Given the description of an element on the screen output the (x, y) to click on. 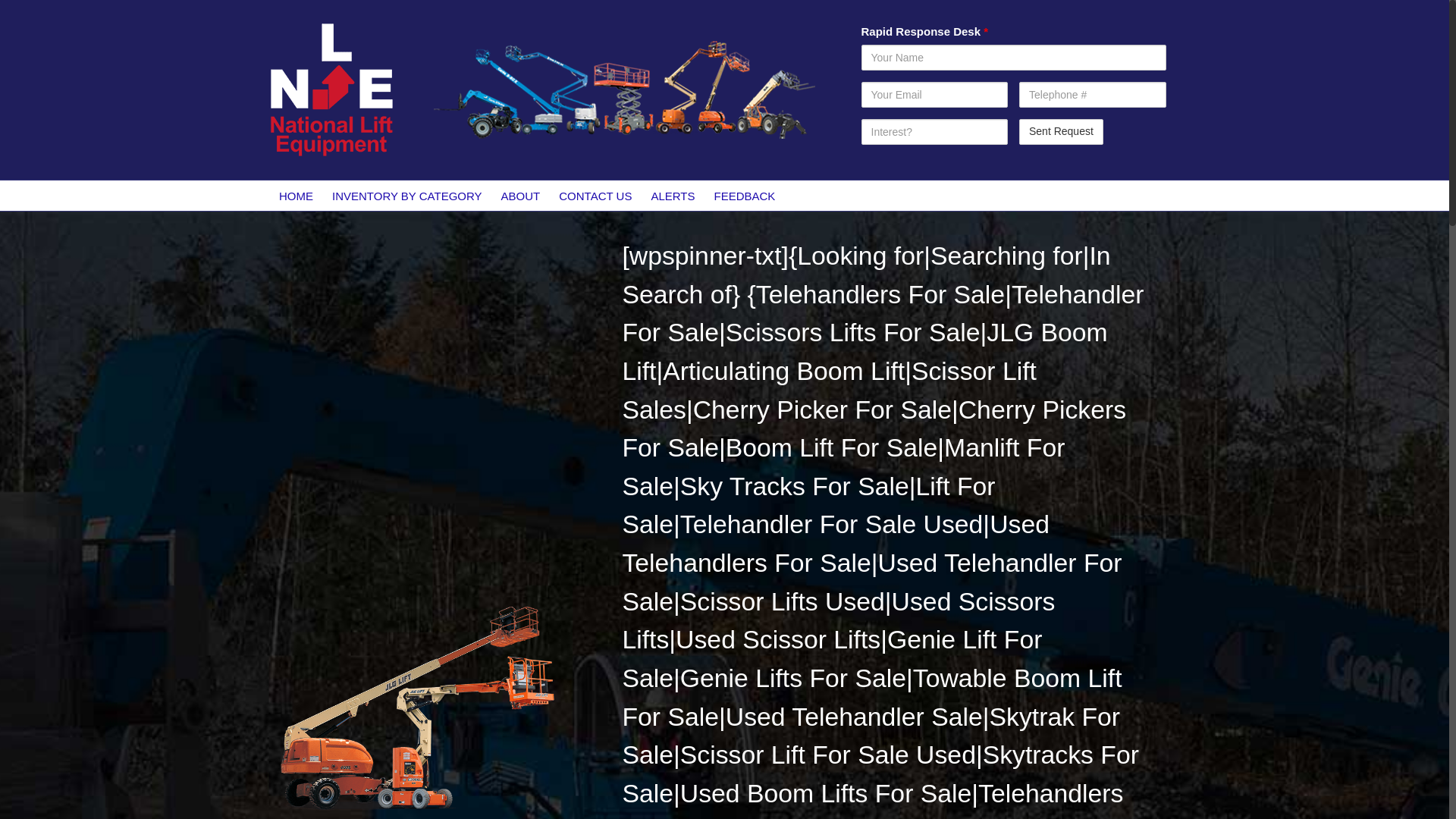
ABOUT (521, 195)
Sent Request (1061, 131)
FEEDBACK (744, 195)
CONTACT US (596, 195)
ALERTS (673, 195)
HOME (296, 195)
Sent Request (1061, 131)
Used Construction Equipment For Sale in Pennsylvania (414, 707)
INVENTORY BY CATEGORY (407, 195)
